Given the description of an element on the screen output the (x, y) to click on. 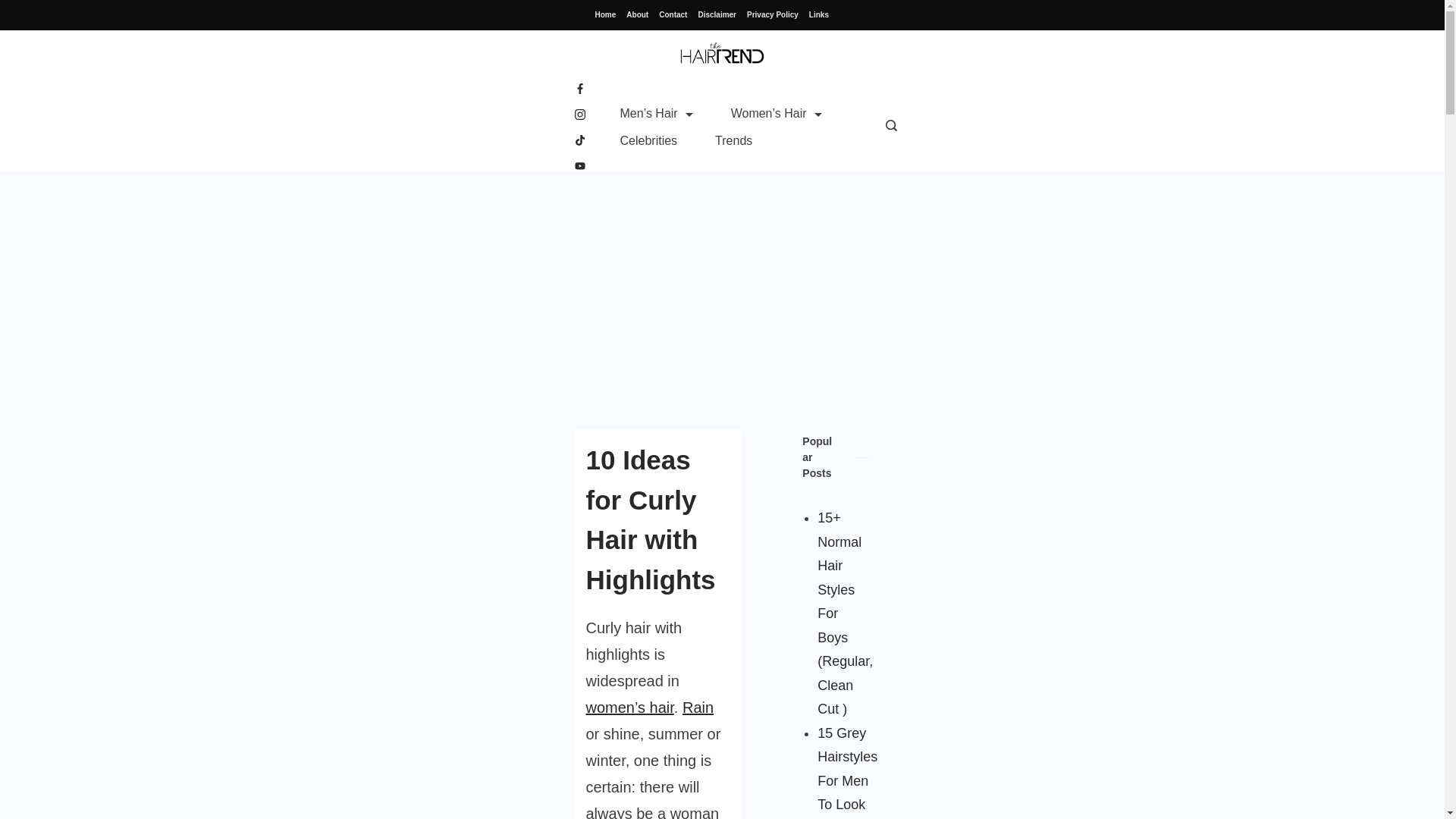
Privacy Policy (772, 15)
About (637, 15)
Contact (673, 15)
Celebrities (647, 140)
Links (818, 15)
Home (605, 15)
Trends (733, 140)
Disclaimer (717, 15)
